Given the description of an element on the screen output the (x, y) to click on. 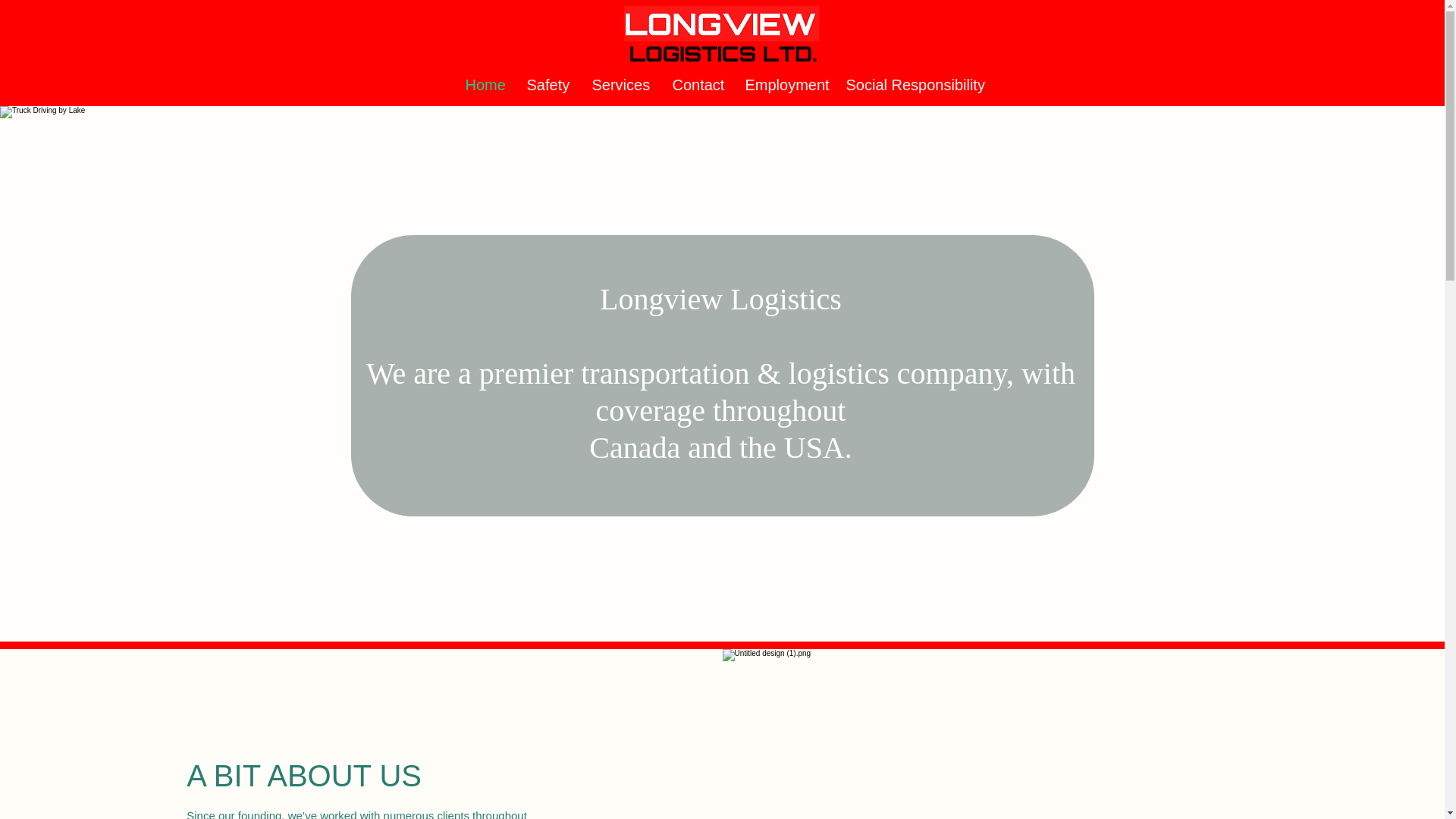
LONGVIEW.png (721, 39)
Social Responsibility (911, 85)
Services (620, 85)
Contact (697, 85)
Safety (547, 85)
Employment (783, 85)
Home (483, 85)
